Given the description of an element on the screen output the (x, y) to click on. 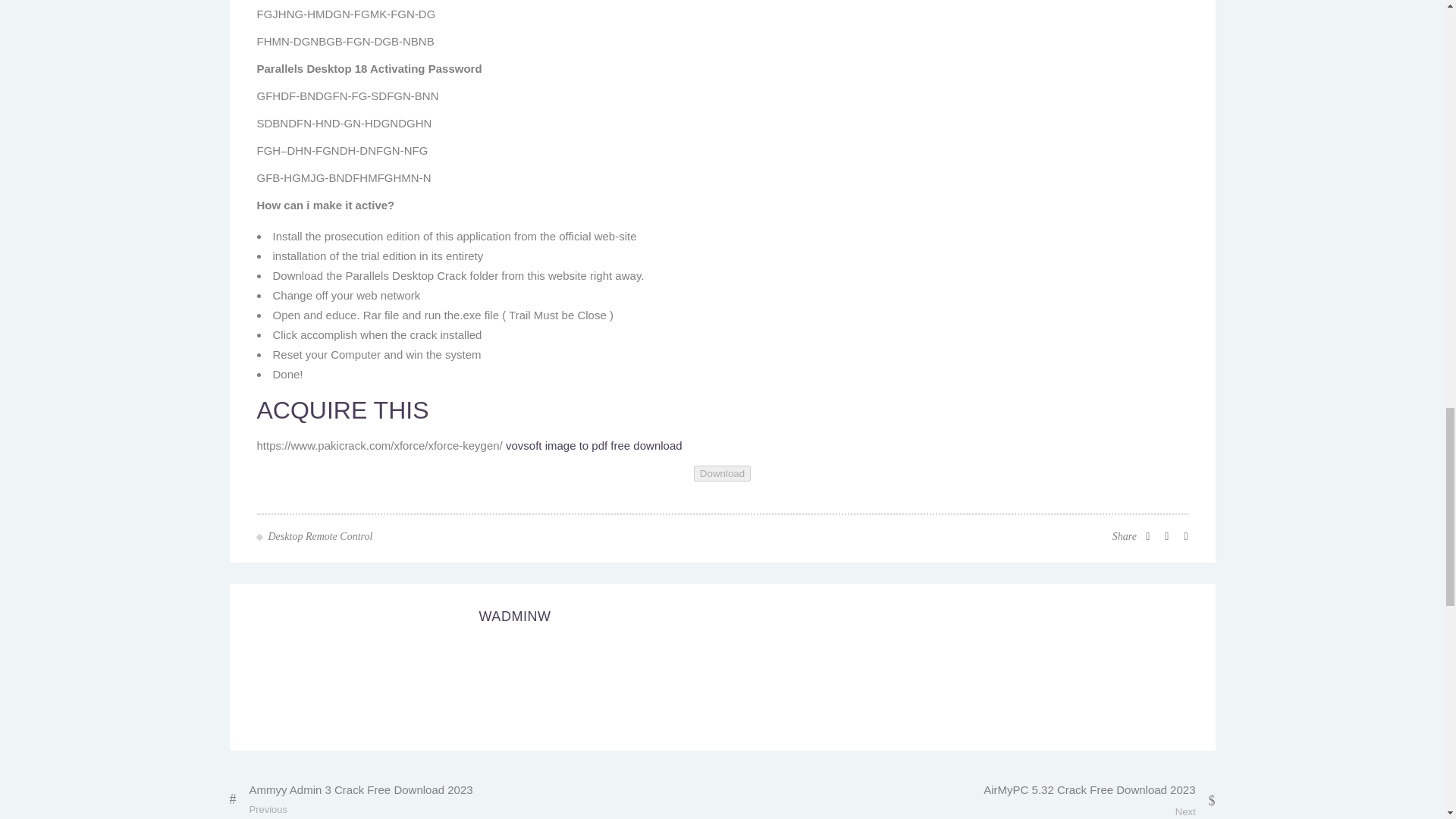
vovsoft image to pdf free download (593, 445)
Download (722, 472)
Desktop Remote Control (320, 537)
Download (722, 473)
